Given the description of an element on the screen output the (x, y) to click on. 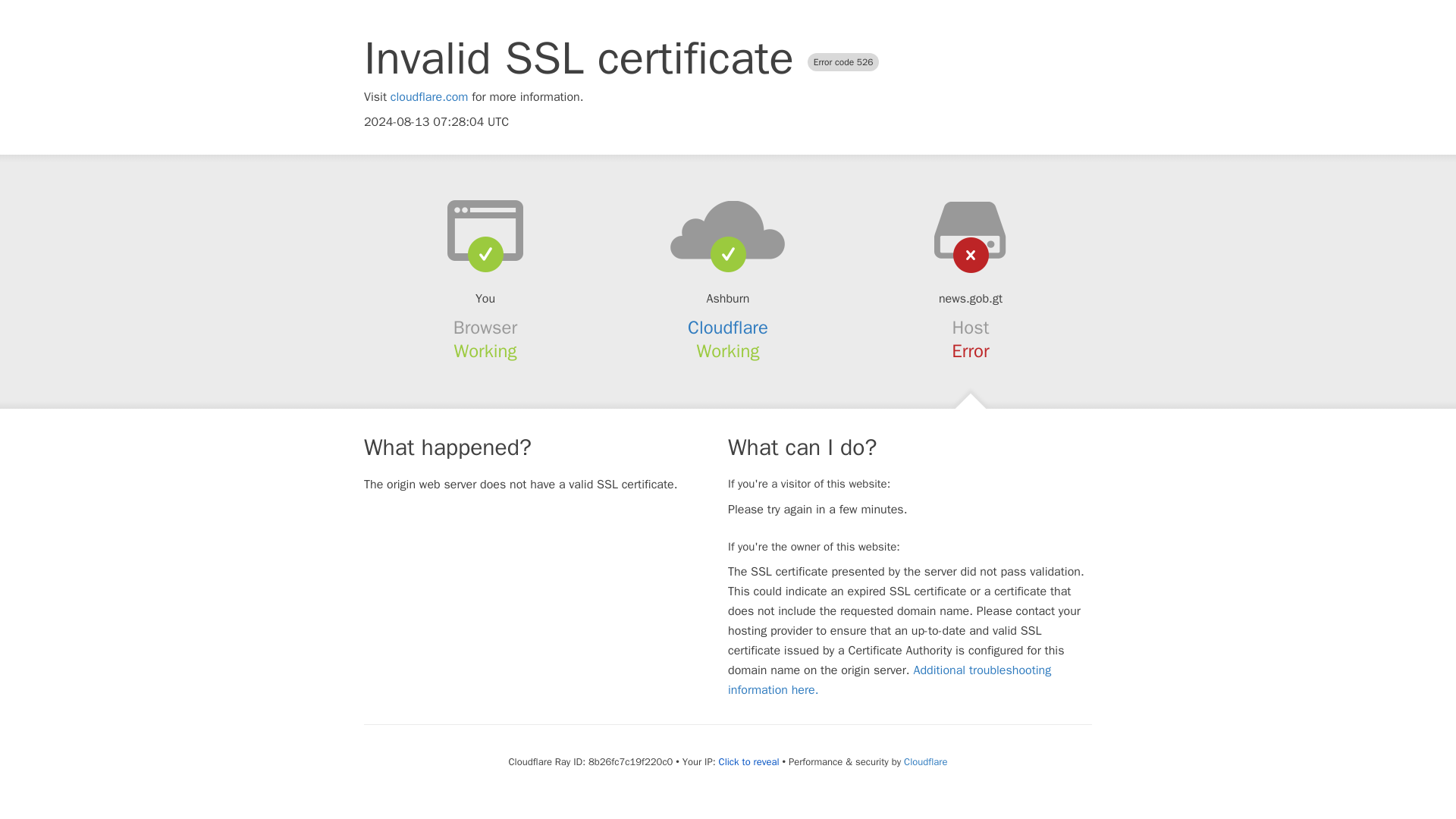
cloudflare.com (429, 96)
Click to reveal (748, 762)
Cloudflare (925, 761)
Additional troubleshooting information here. (889, 679)
Cloudflare (727, 327)
